Given the description of an element on the screen output the (x, y) to click on. 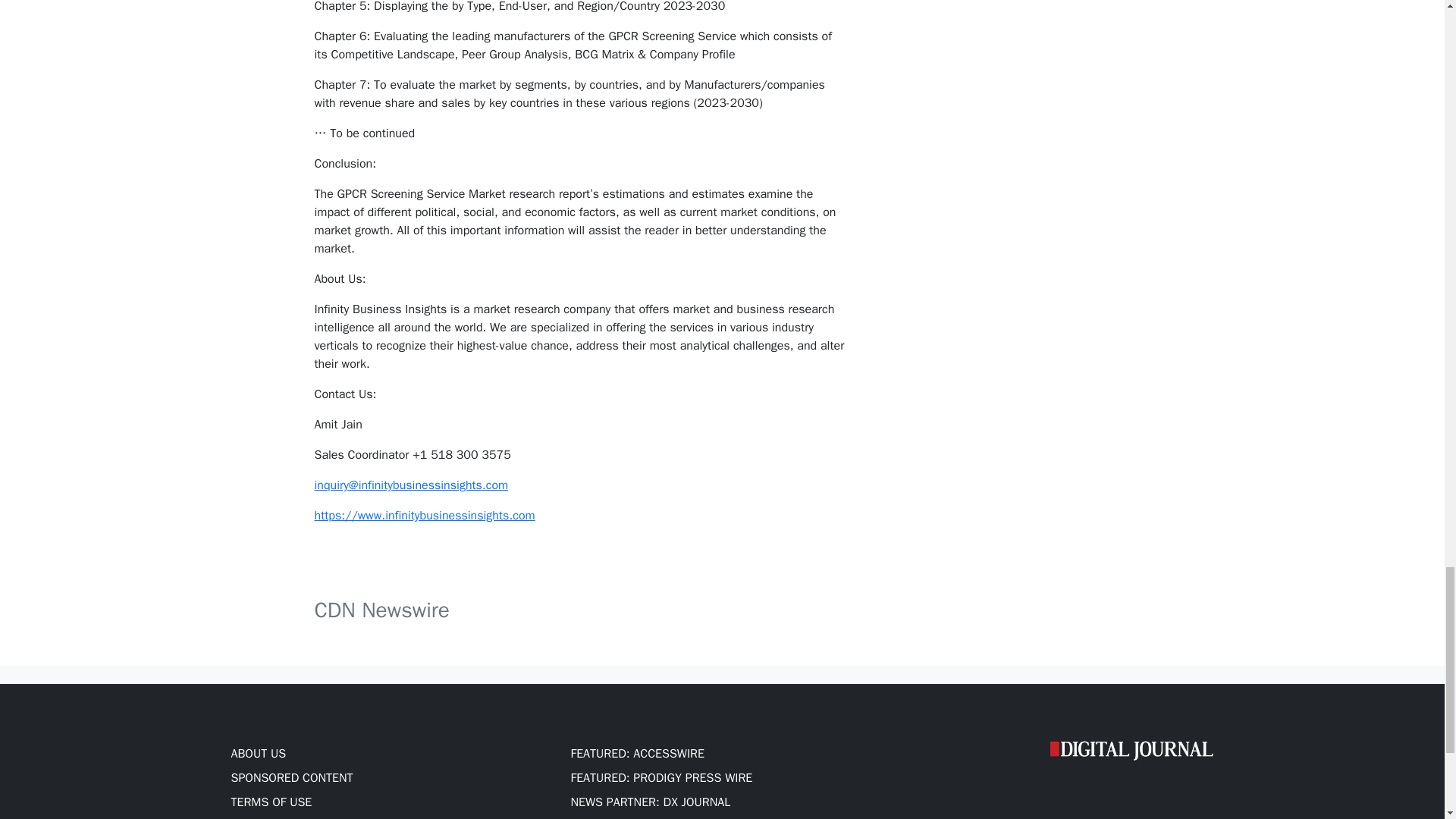
ABOUT US (257, 753)
SPONSORED CONTENT (291, 777)
TERMS OF USE (270, 801)
